Given the description of an element on the screen output the (x, y) to click on. 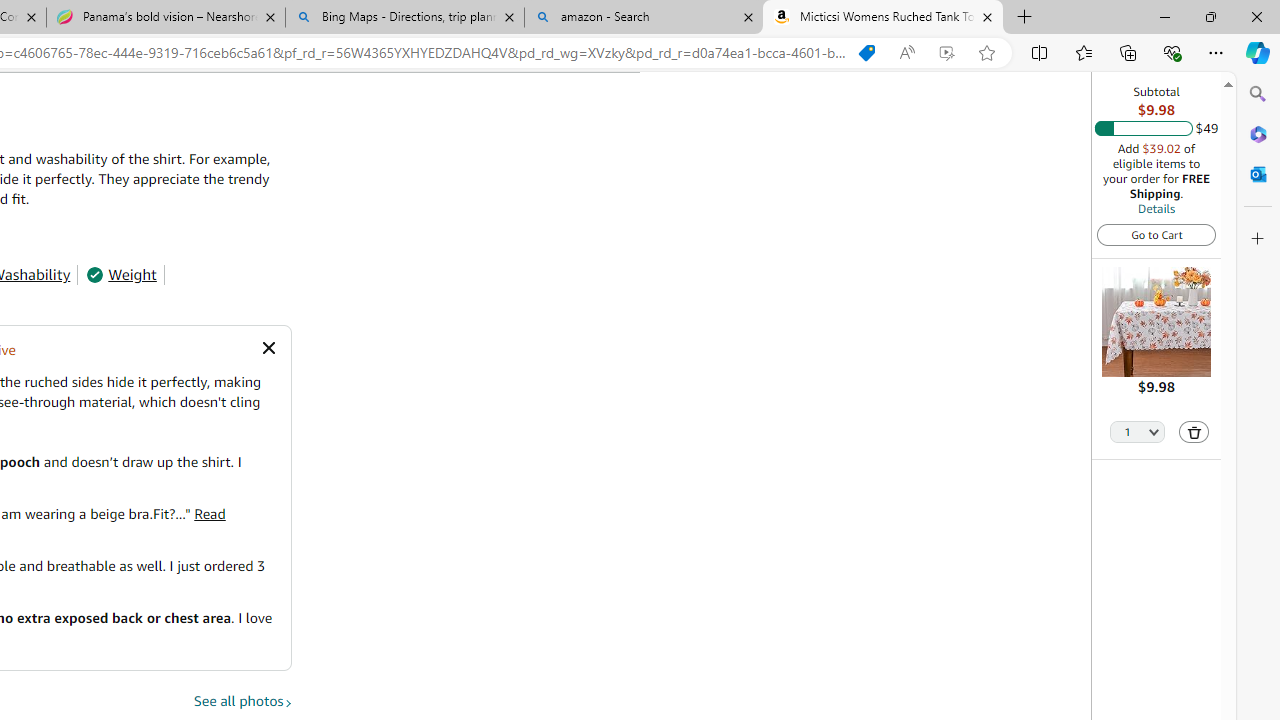
Enhance video (946, 53)
amazon - Search (643, 17)
See all photos (243, 701)
